Given the description of an element on the screen output the (x, y) to click on. 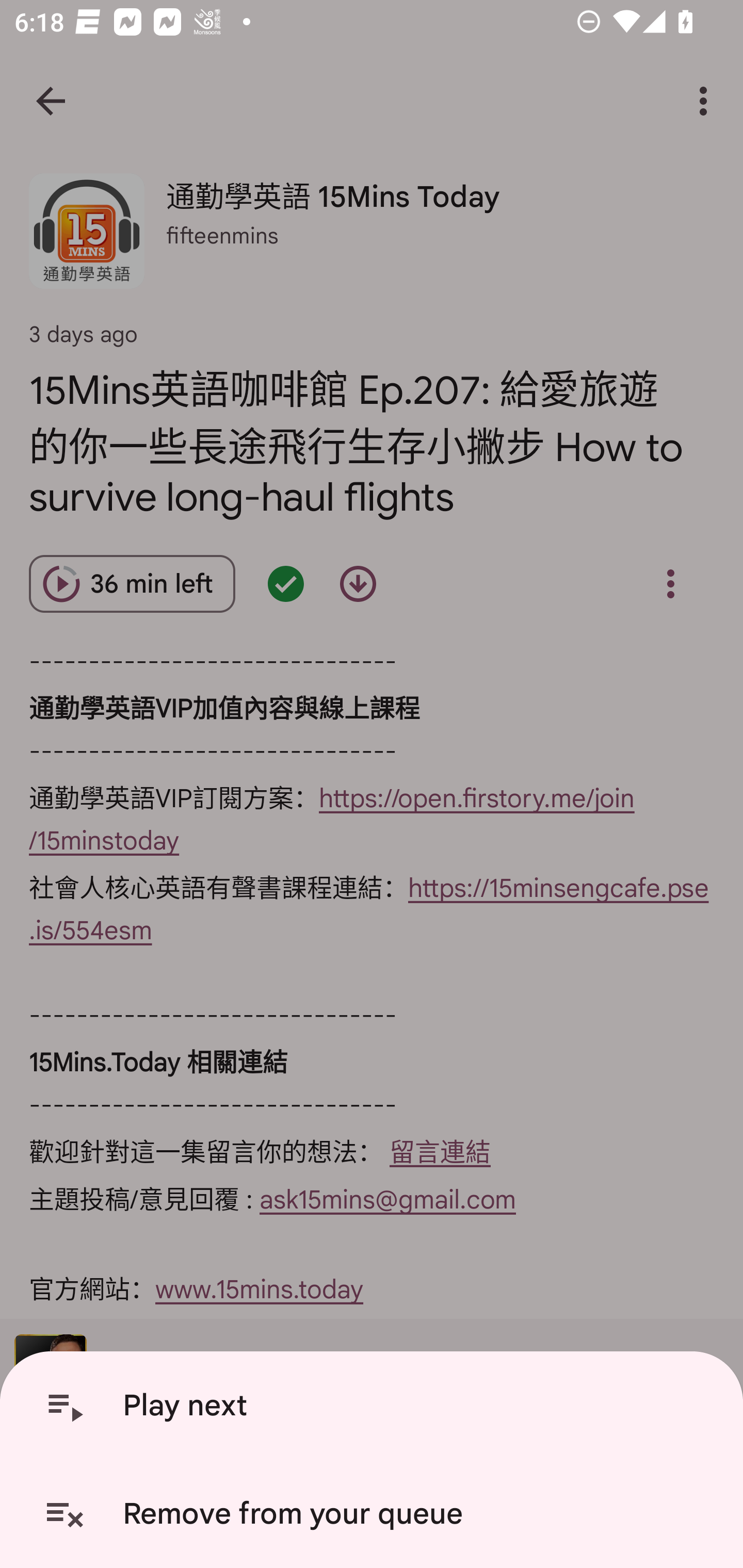
Play next (375, 1405)
Remove from your queue (375, 1513)
